Given the description of an element on the screen output the (x, y) to click on. 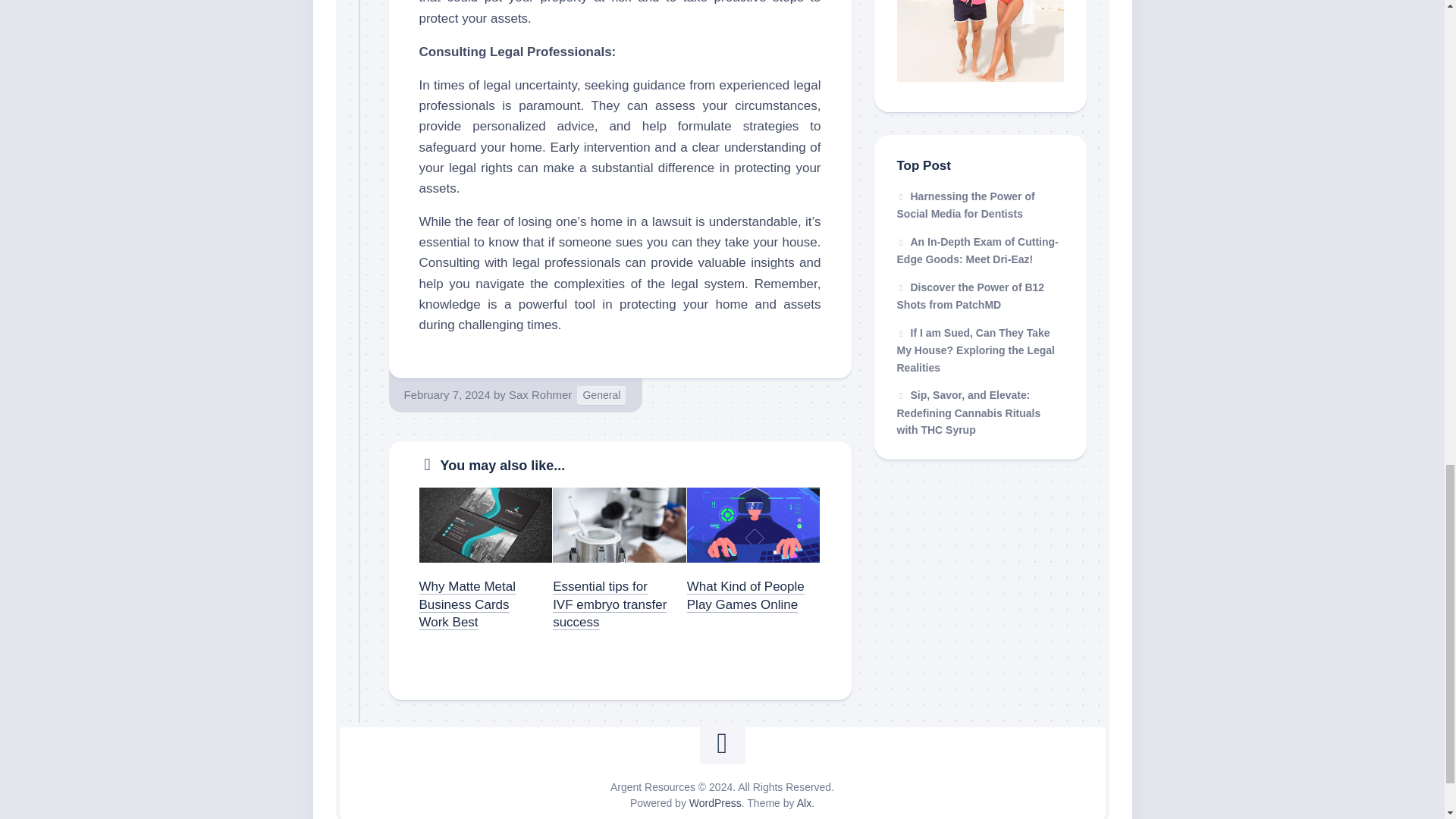
Essential tips for IVF embryo transfer success (609, 604)
Posts by Sax Rohmer (540, 394)
Sax Rohmer (540, 394)
Why Matte Metal Business Cards Work Best (467, 604)
General (601, 394)
What Kind of People Play Games Online (746, 595)
